Given the description of an element on the screen output the (x, y) to click on. 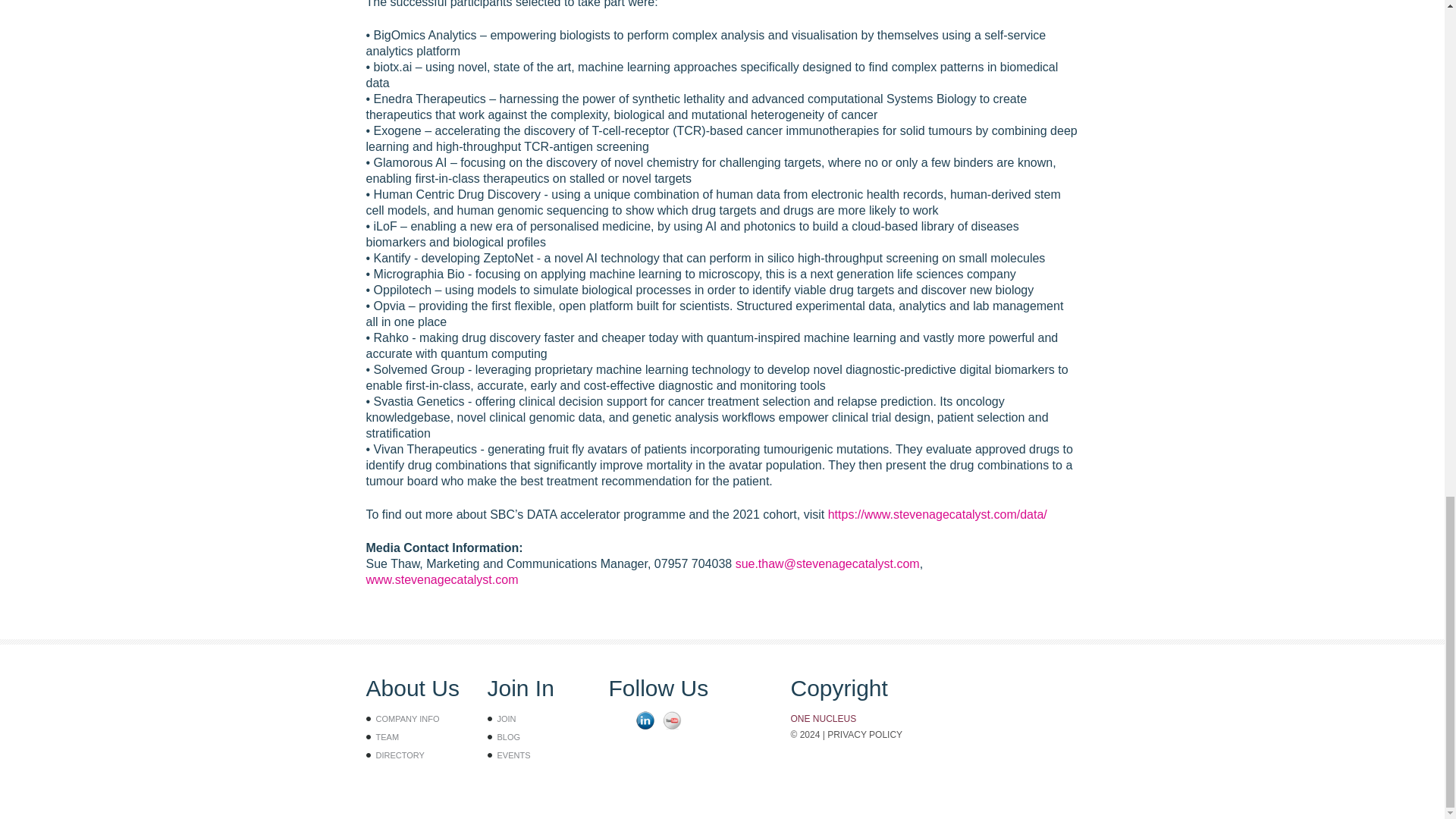
COMPANY INFO (407, 718)
TEAM (386, 737)
DIRECTORY (400, 755)
www.stevenagecatalyst.com (441, 579)
